Given the description of an element on the screen output the (x, y) to click on. 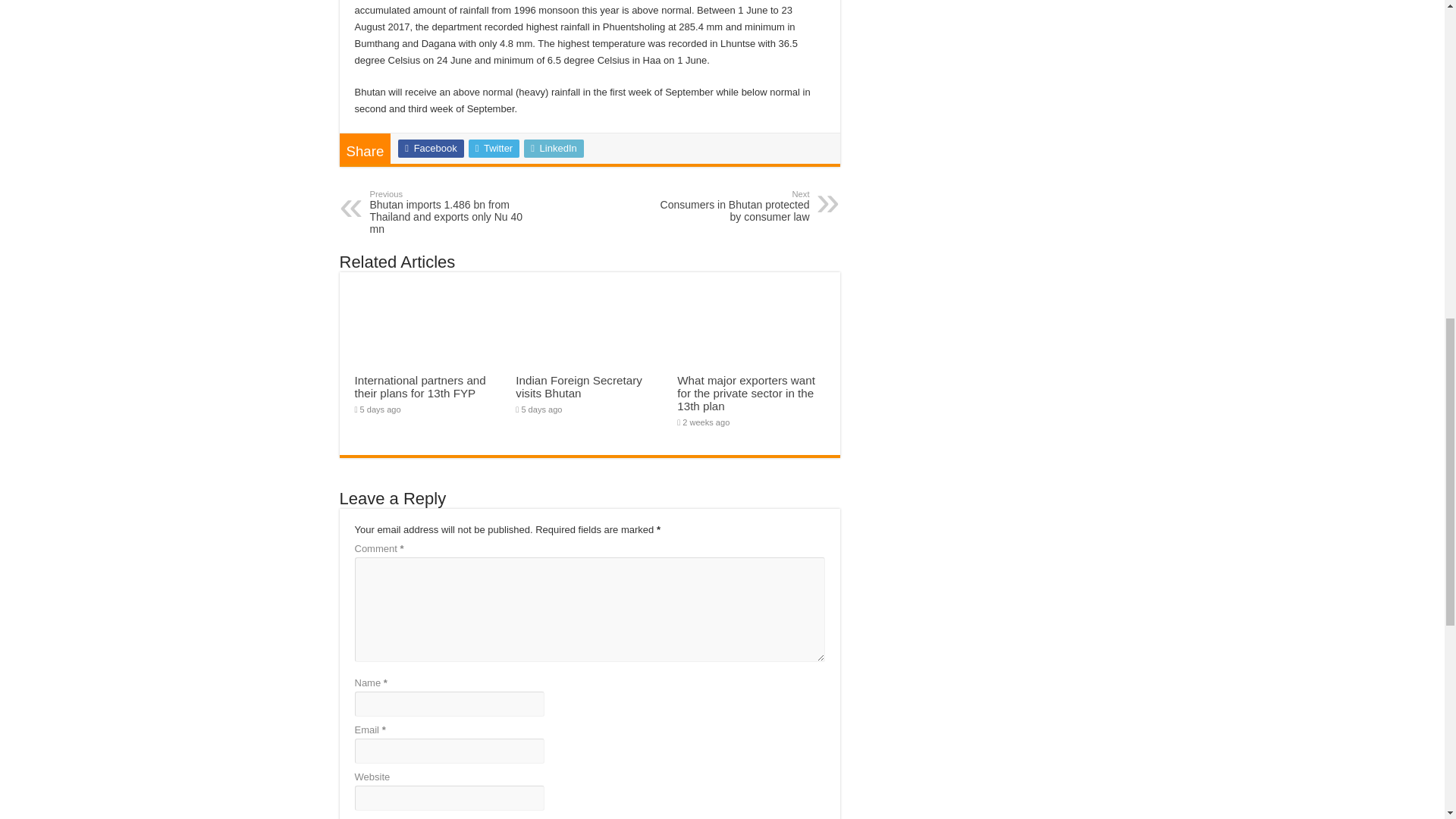
Facebook (430, 148)
